Given the description of an element on the screen output the (x, y) to click on. 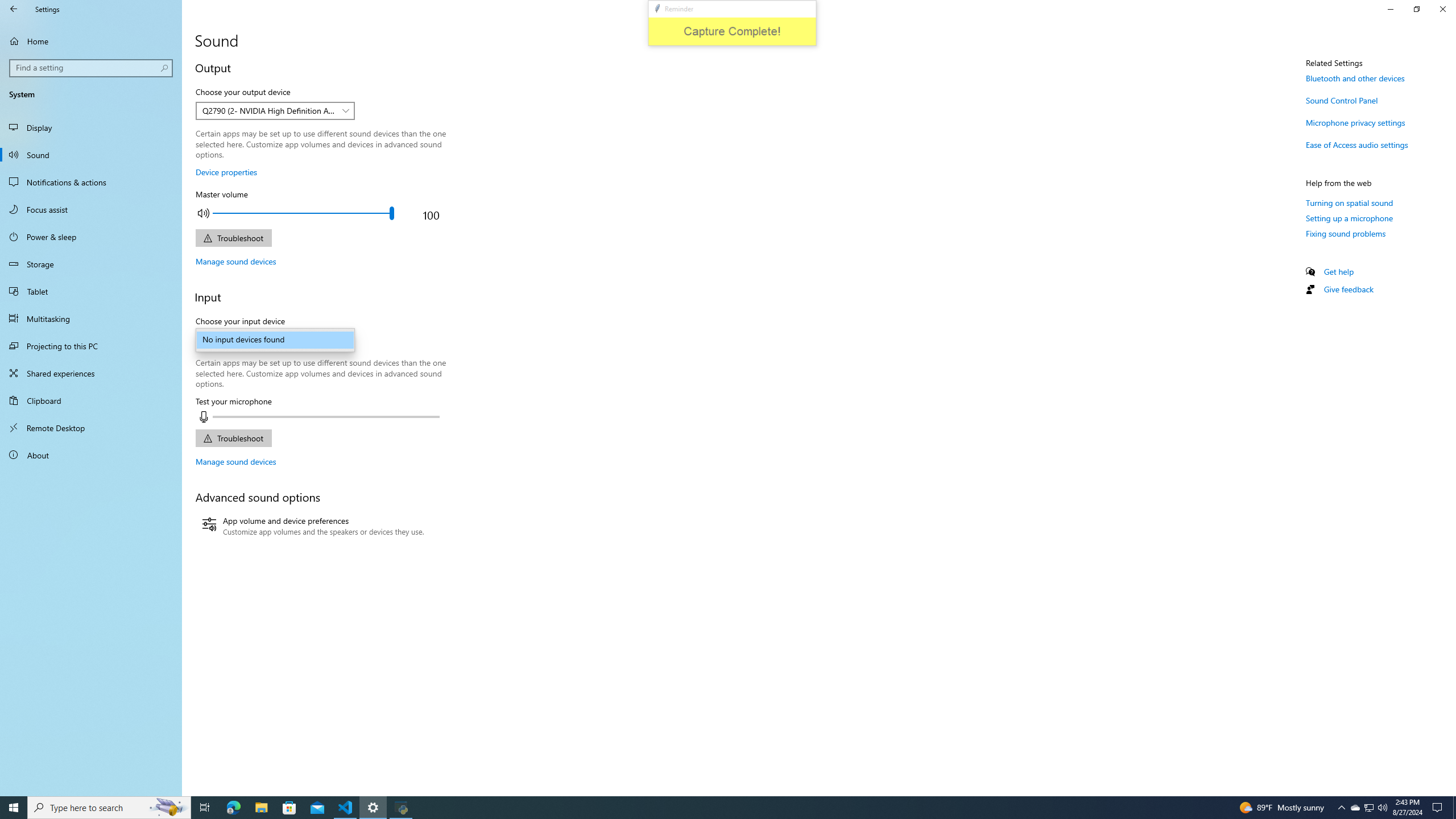
Mute master volume (203, 213)
Storage (91, 263)
Shared experiences (91, 372)
No input devices found (274, 339)
Multitasking (91, 318)
Q2790 (2- NVIDIA High Definition Audio) (269, 110)
Output device troubleshoot (233, 237)
Adjust the master output volume (303, 212)
Remote Desktop (91, 427)
Device properties (226, 171)
Sound (91, 154)
